Given the description of an element on the screen output the (x, y) to click on. 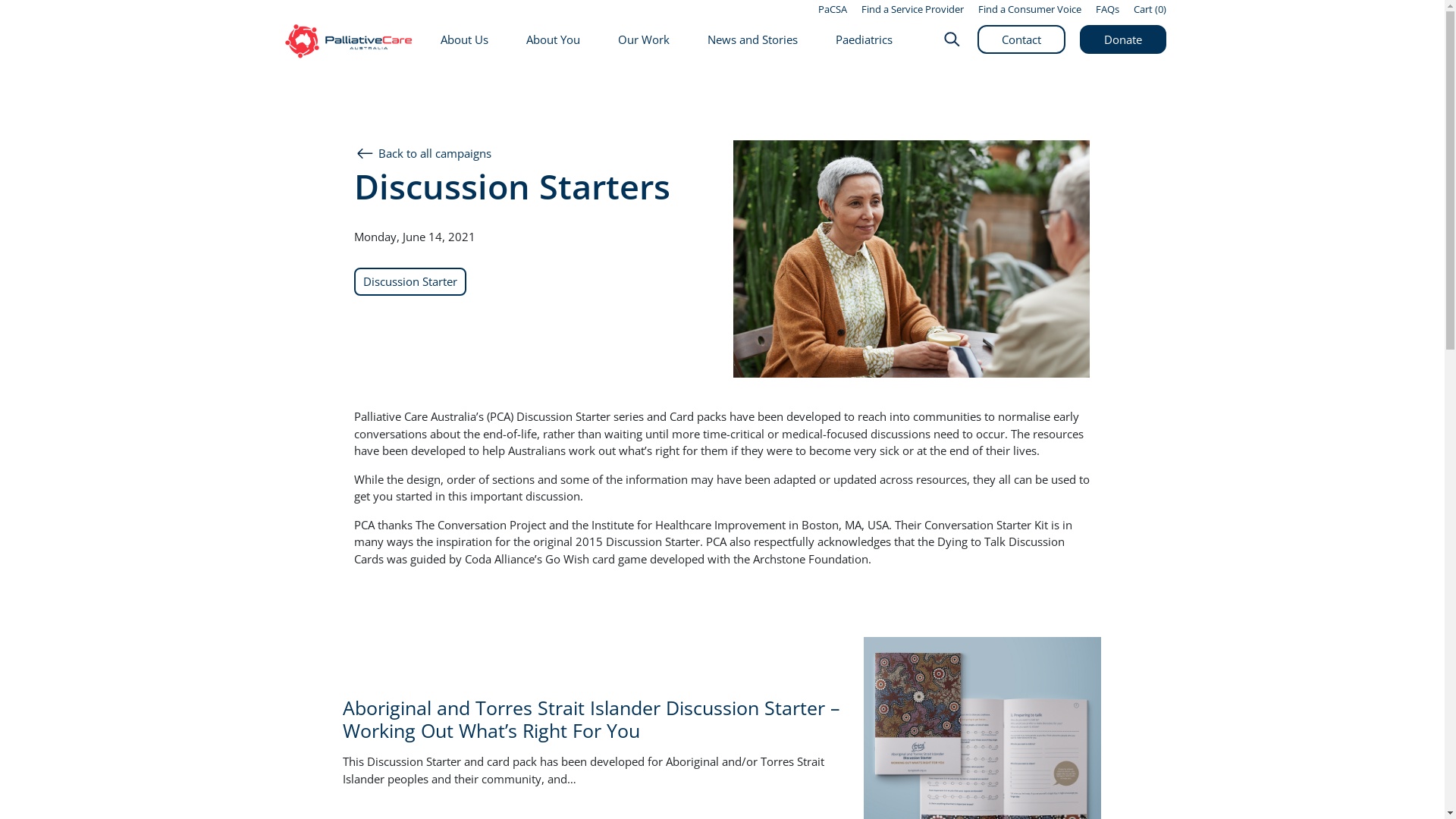
PaCSA Element type: text (831, 9)
FAQs Element type: text (1106, 9)
Paediatrics Element type: text (864, 40)
Back to all campaigns Element type: text (426, 154)
Cart (0) Element type: text (1148, 9)
About Us Element type: text (464, 40)
Find a Consumer Voice Element type: text (1029, 9)
About You Element type: text (552, 40)
Find a Service Provider Element type: text (912, 9)
Contact Element type: text (1020, 39)
Discussion Starter Element type: text (410, 281)
News and Stories Element type: text (752, 40)
Our Work Element type: text (643, 40)
Donate Element type: text (1122, 39)
